Given the description of an element on the screen output the (x, y) to click on. 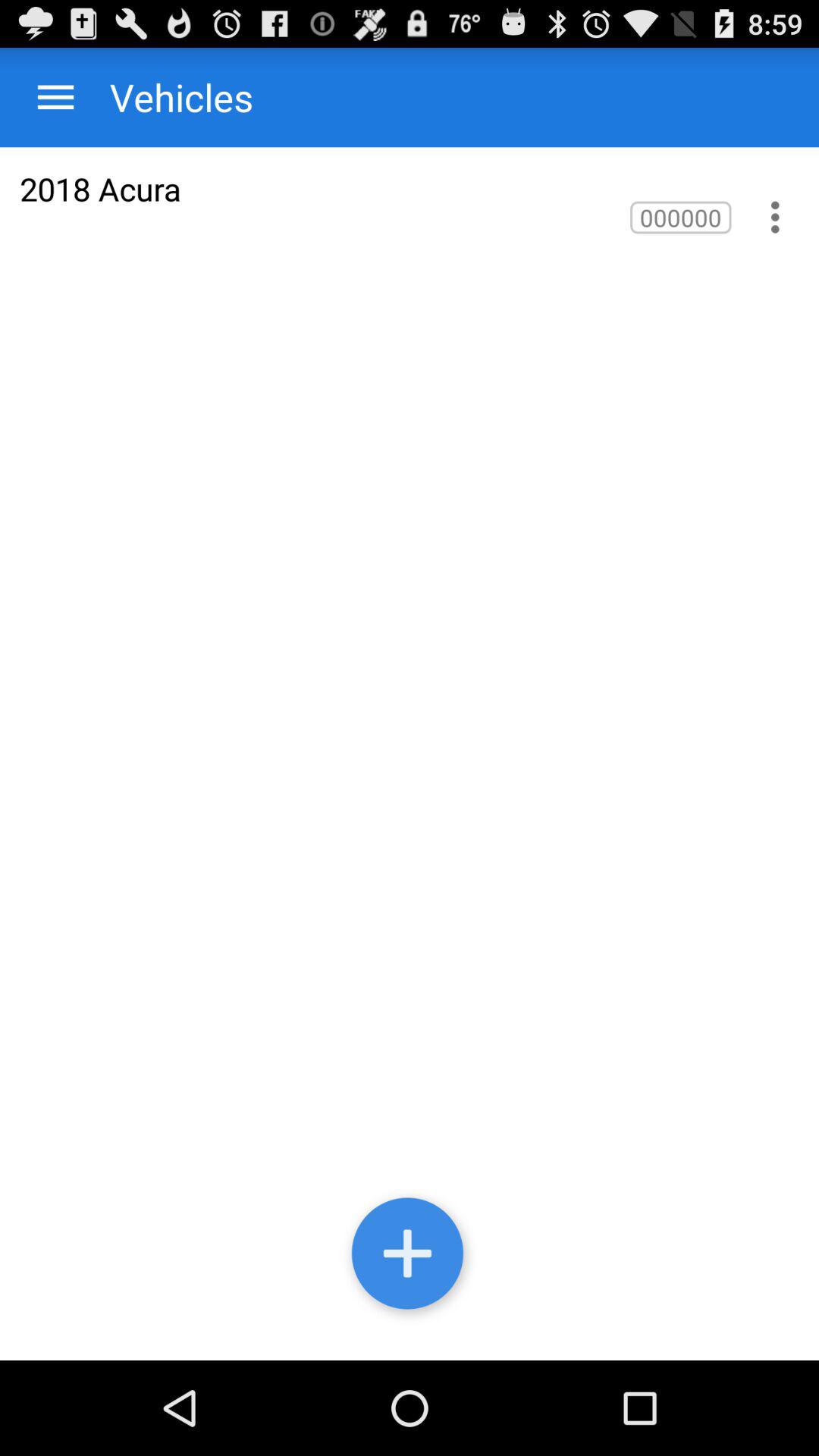
turn on the vehicles item (166, 96)
